Given the description of an element on the screen output the (x, y) to click on. 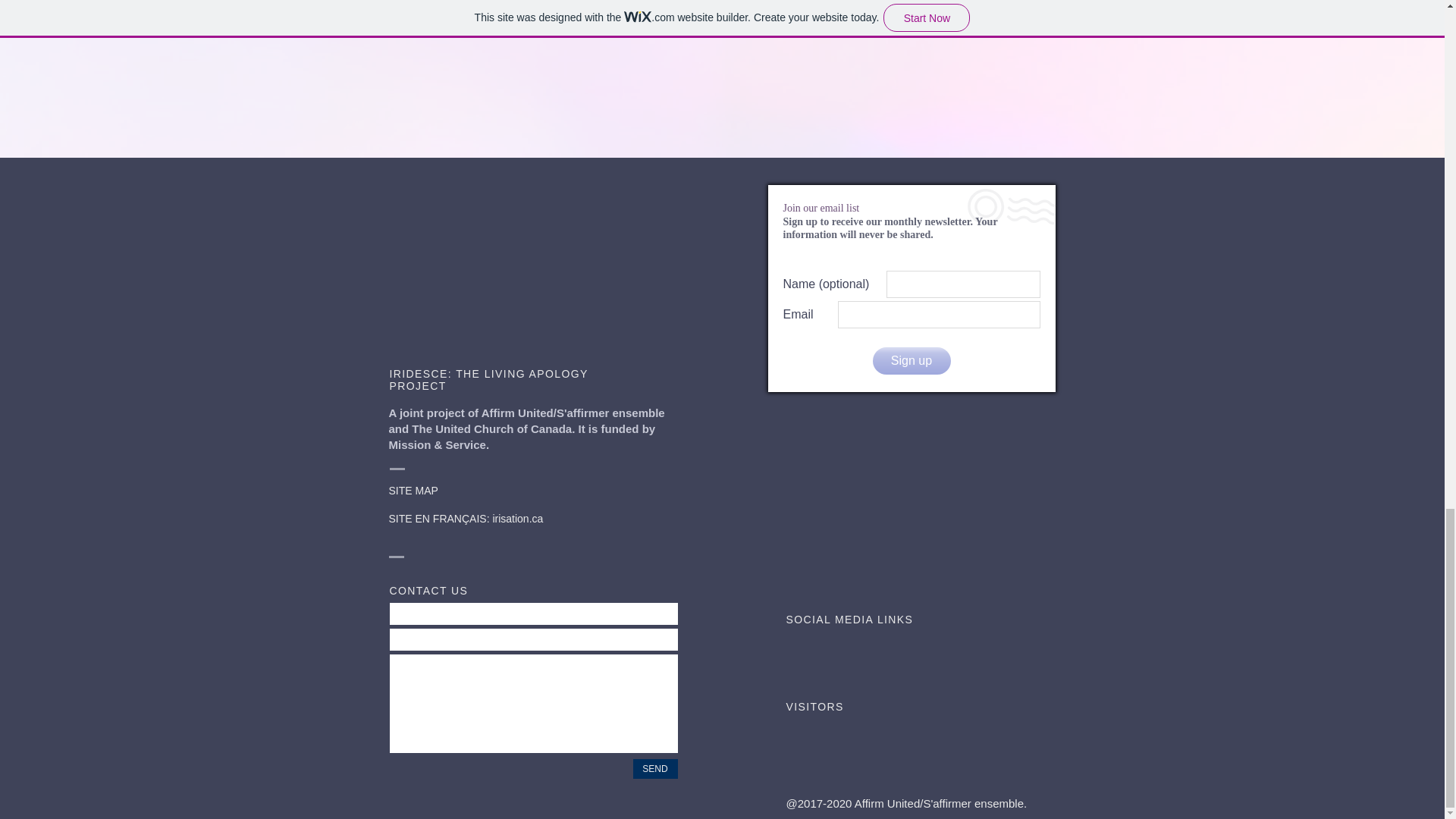
Sign up (911, 360)
SITE MAP (413, 490)
SEND (654, 768)
